Given the description of an element on the screen output the (x, y) to click on. 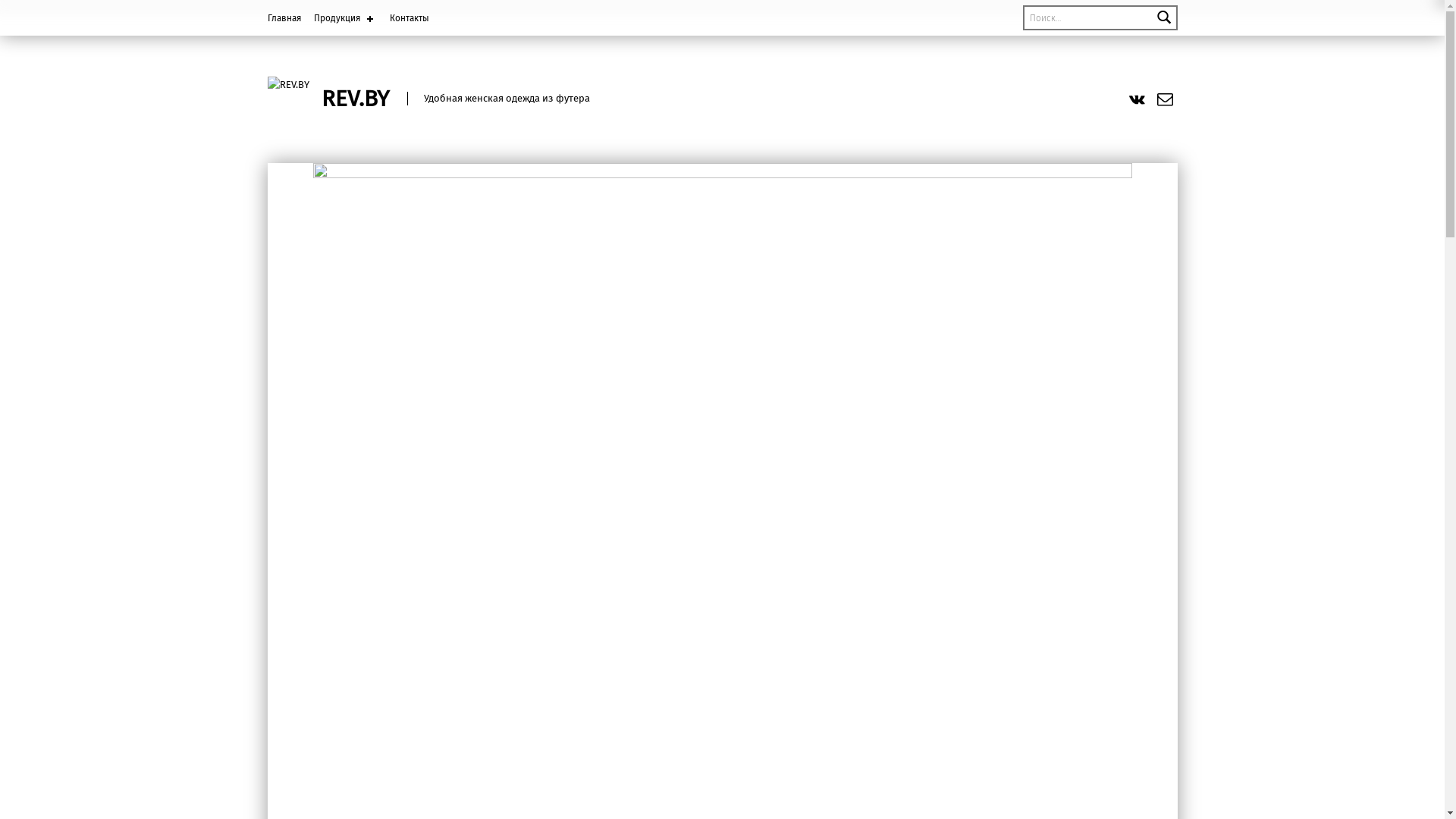
vk.com Element type: text (1137, 98)
REV.BY Element type: text (355, 98)
Email Element type: text (1165, 98)
